Given the description of an element on the screen output the (x, y) to click on. 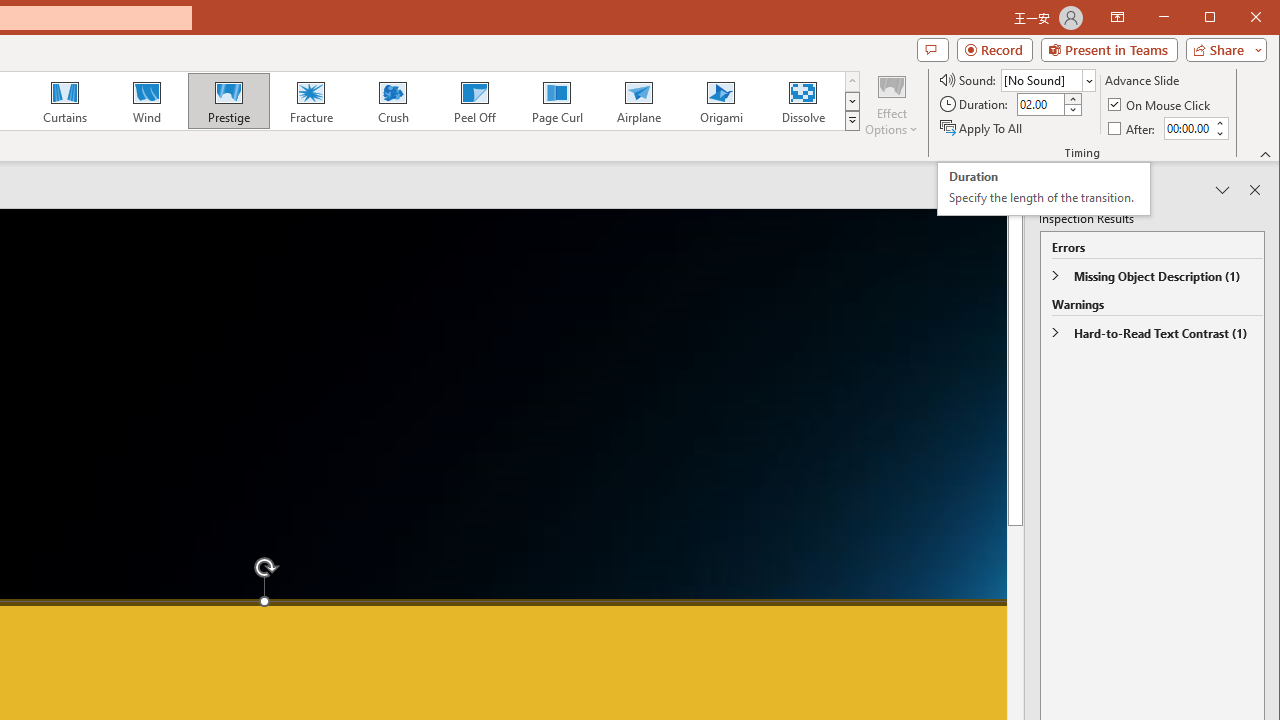
Fracture (311, 100)
After (1133, 127)
Prestige (229, 100)
Crush (392, 100)
Wind (147, 100)
